Given the description of an element on the screen output the (x, y) to click on. 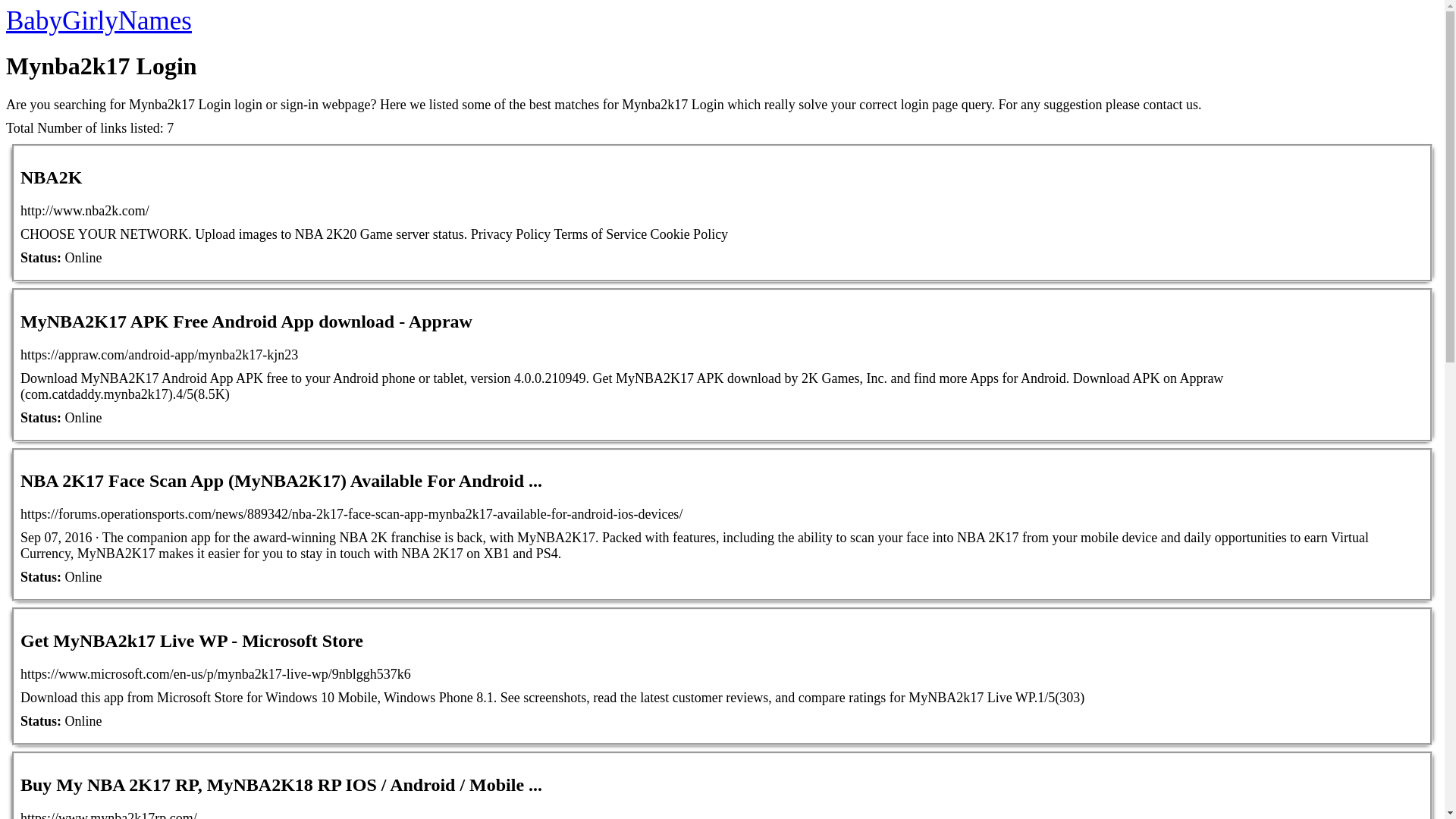
BabyGirlyNames (98, 20)
